Given the description of an element on the screen output the (x, y) to click on. 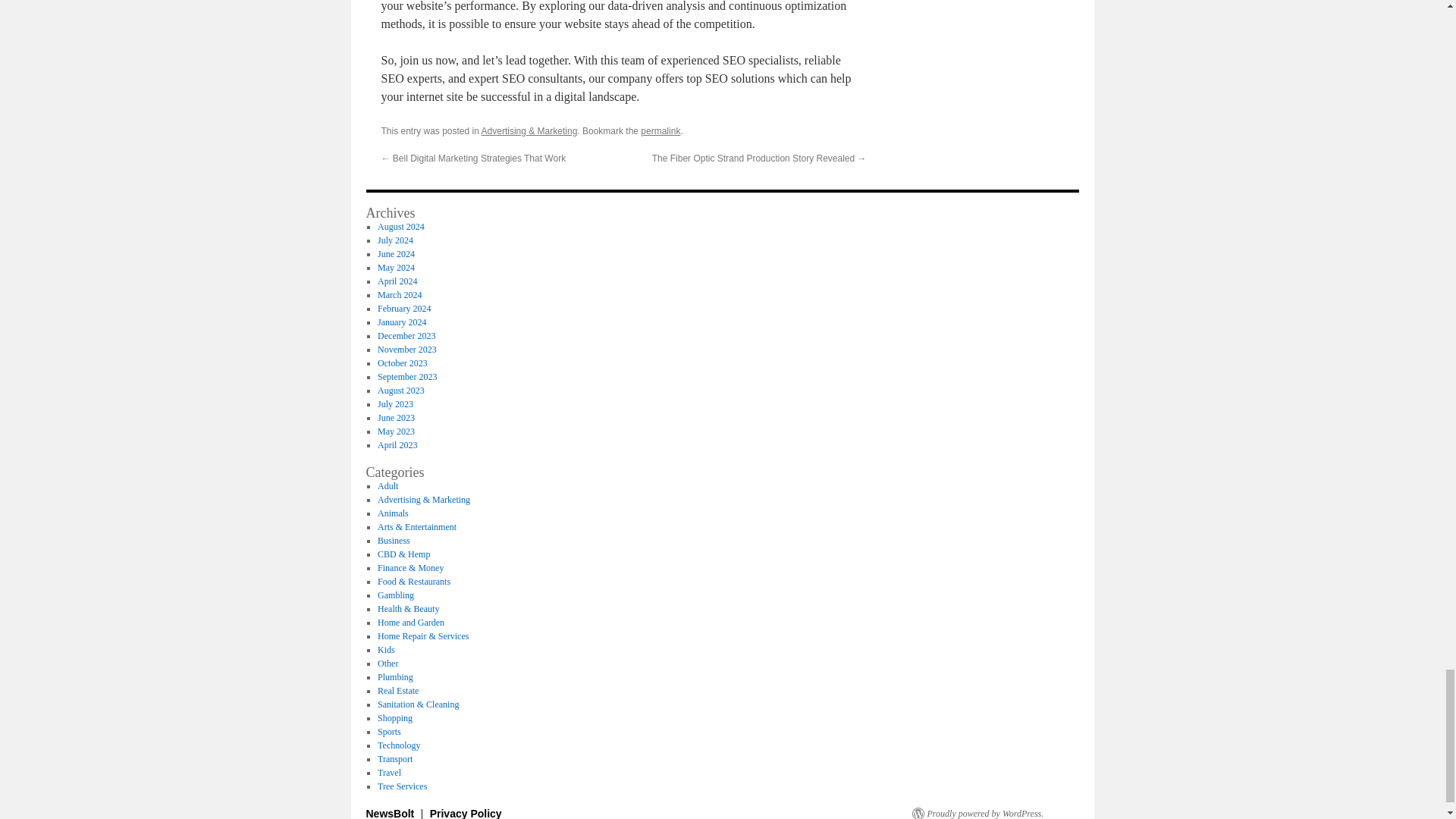
Adult (387, 485)
August 2024 (401, 226)
September 2023 (406, 376)
May 2023 (395, 430)
August 2023 (401, 389)
October 2023 (402, 362)
permalink (659, 131)
April 2024 (396, 281)
June 2024 (395, 253)
